Given the description of an element on the screen output the (x, y) to click on. 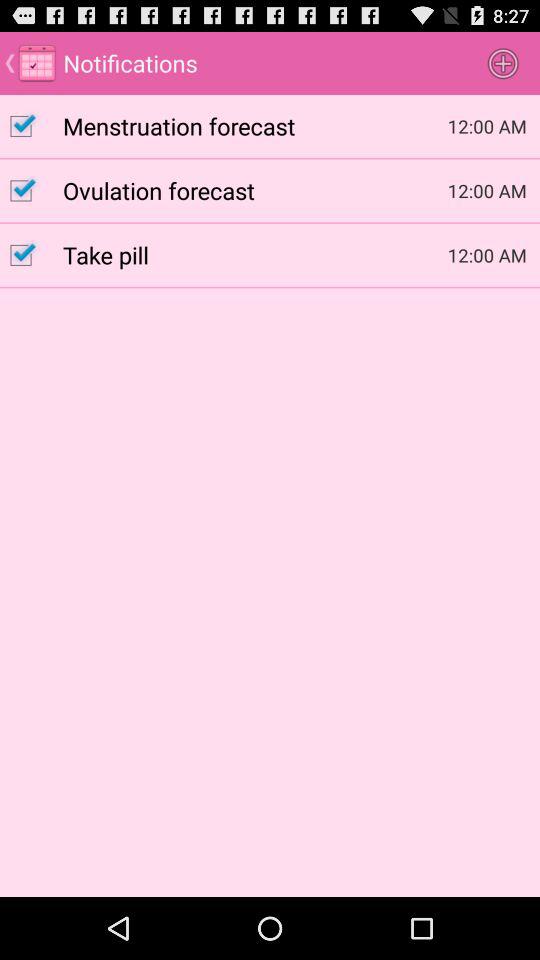
toggle notification (31, 125)
